Given the description of an element on the screen output the (x, y) to click on. 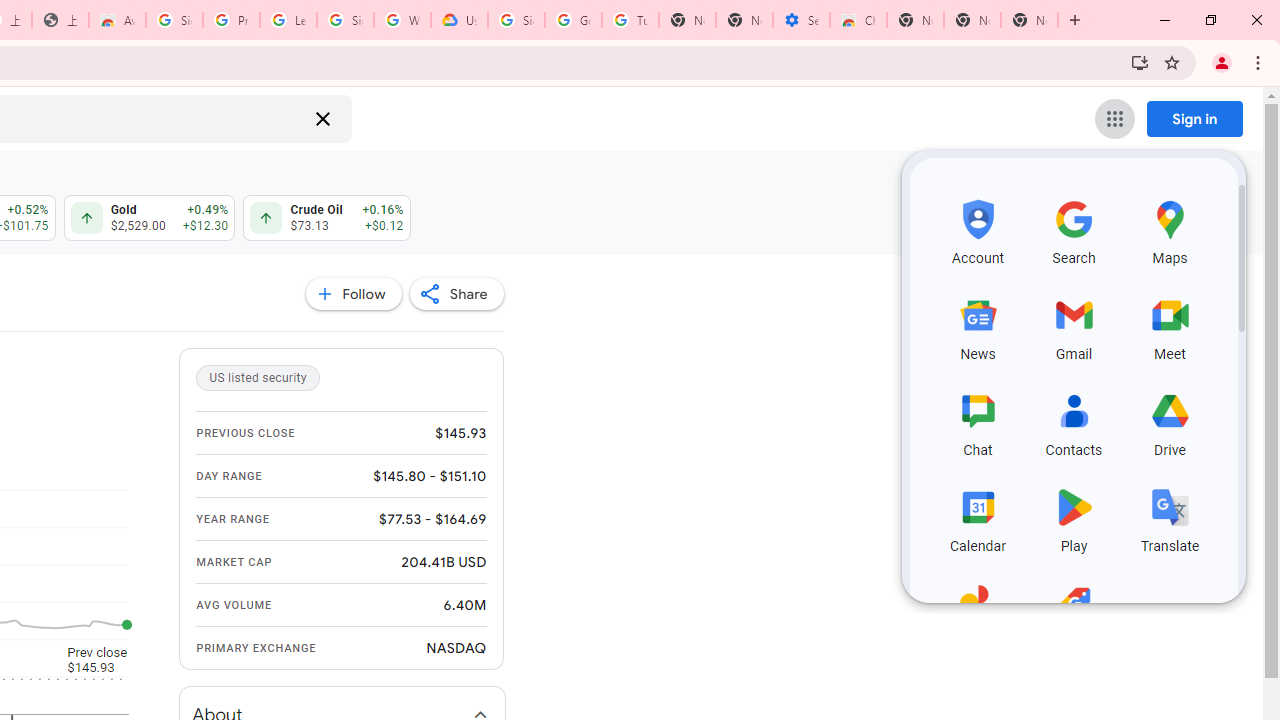
Clear search (322, 118)
Chrome Web Store - Accessibility extensions (858, 20)
Awesome Screen Recorder & Screenshot - Chrome Web Store (116, 20)
Sign in - Google Accounts (345, 20)
Sign in - Google Accounts (516, 20)
Install Google Finance (1139, 62)
